Given the description of an element on the screen output the (x, y) to click on. 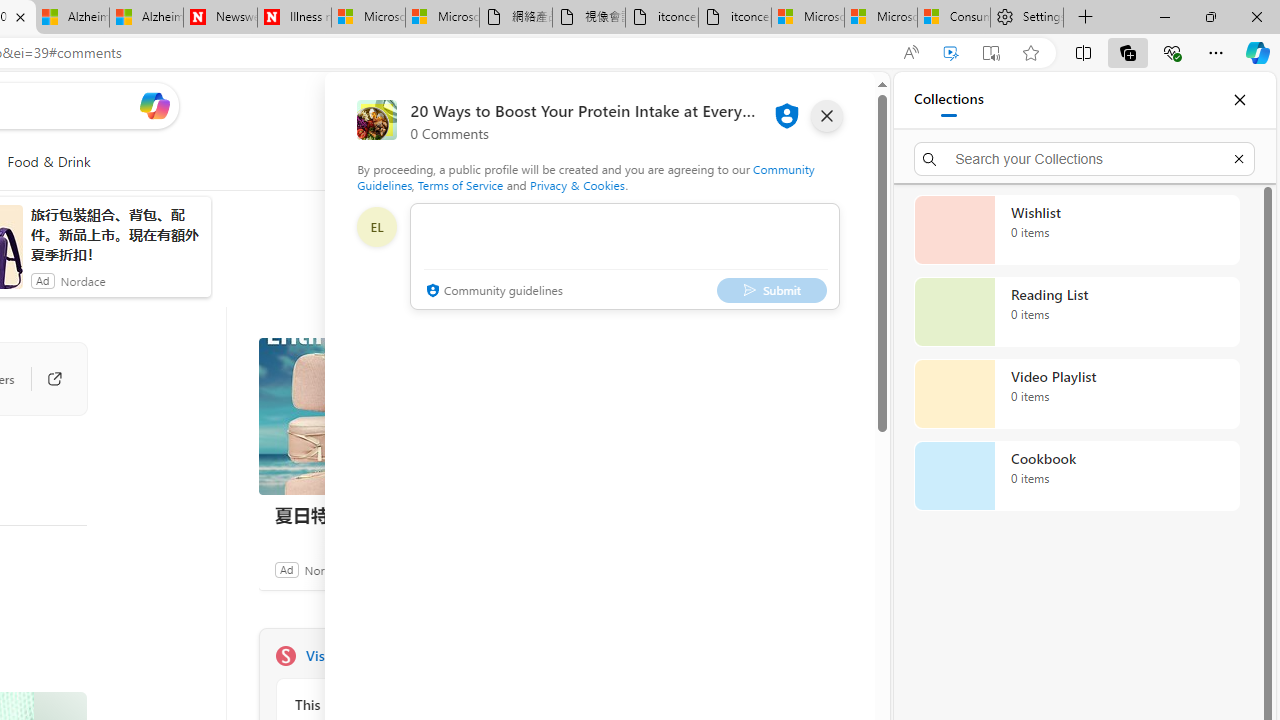
Community guidelines (492, 291)
Visit Shape website (532, 655)
Reading List collection, 0 items (1076, 312)
close (827, 115)
Search your Collections (1084, 158)
